Given the description of an element on the screen output the (x, y) to click on. 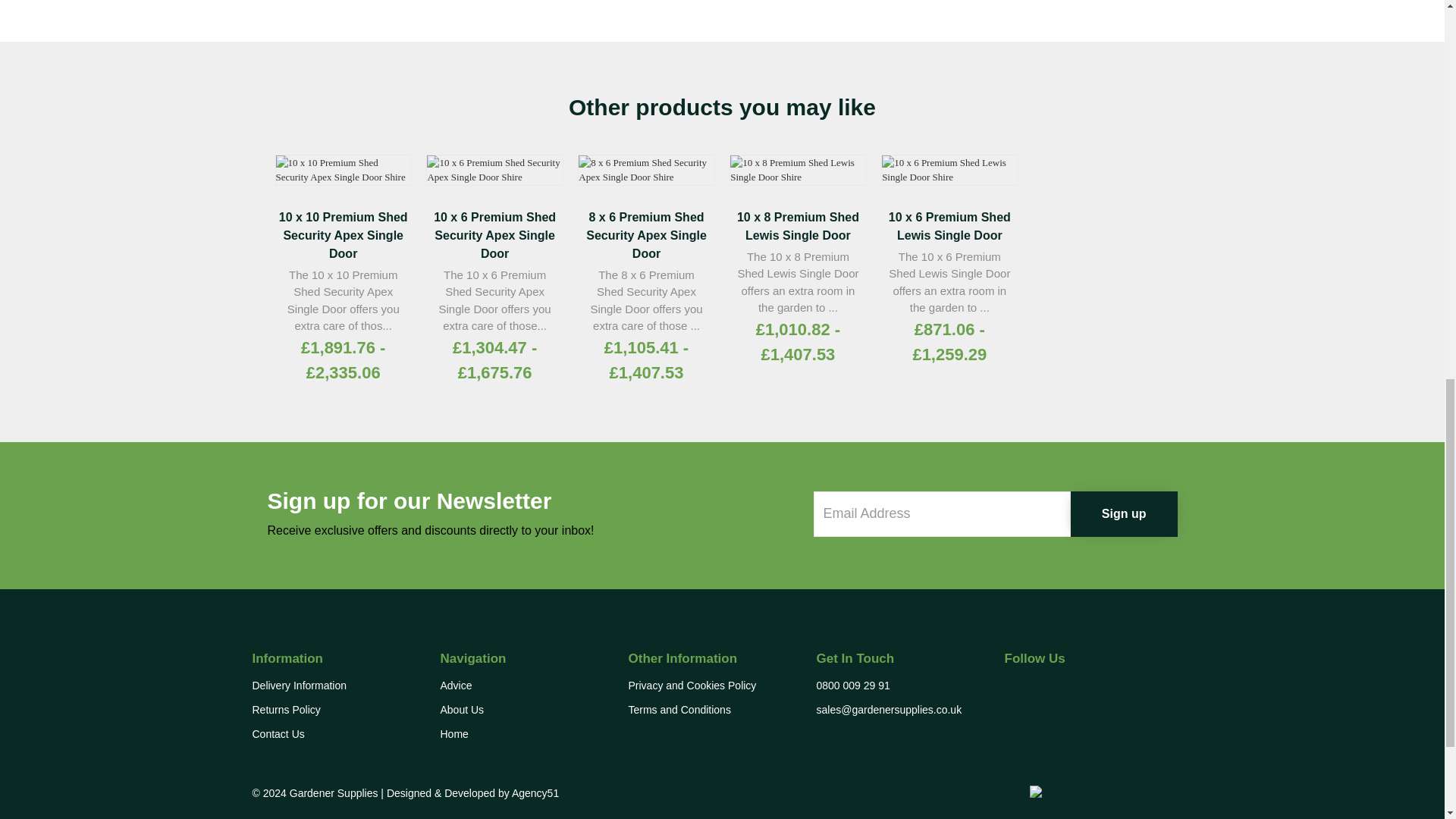
10 x 6 Premium Shed Security Apex Single Door  Shire (494, 169)
10 x 6 Premium Shed Lewis Single Door  Shire (948, 169)
10 x 10 Premium Shed Security Apex Single Door  Shire (342, 169)
8 x 6 Premium Shed Security Apex Single Door  Shire (646, 169)
10 x 8 Premium Shed Lewis Single Door  Shire (797, 169)
Sign up (1123, 514)
